Given the description of an element on the screen output the (x, y) to click on. 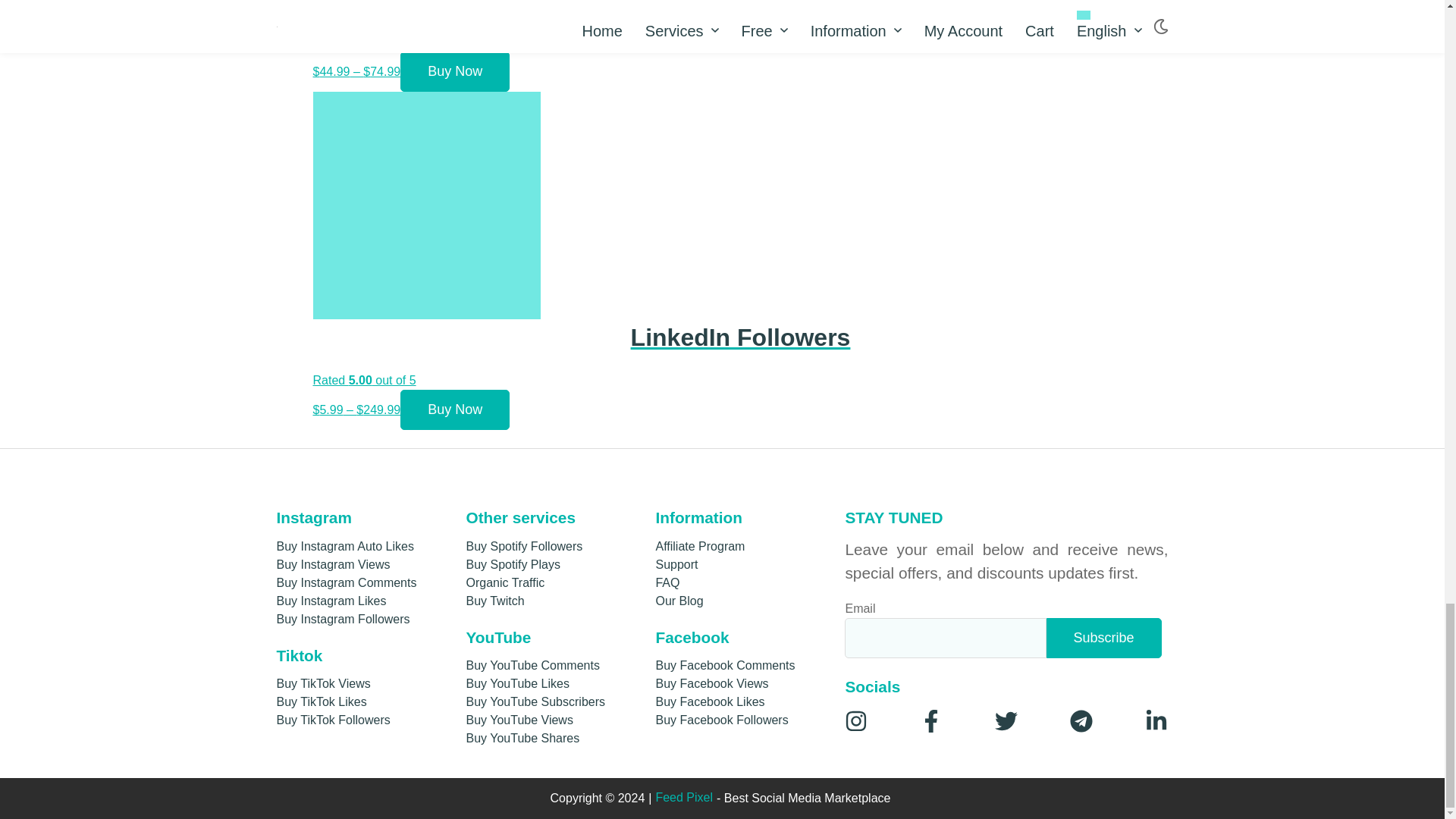
Subscribe (1103, 638)
